Given the description of an element on the screen output the (x, y) to click on. 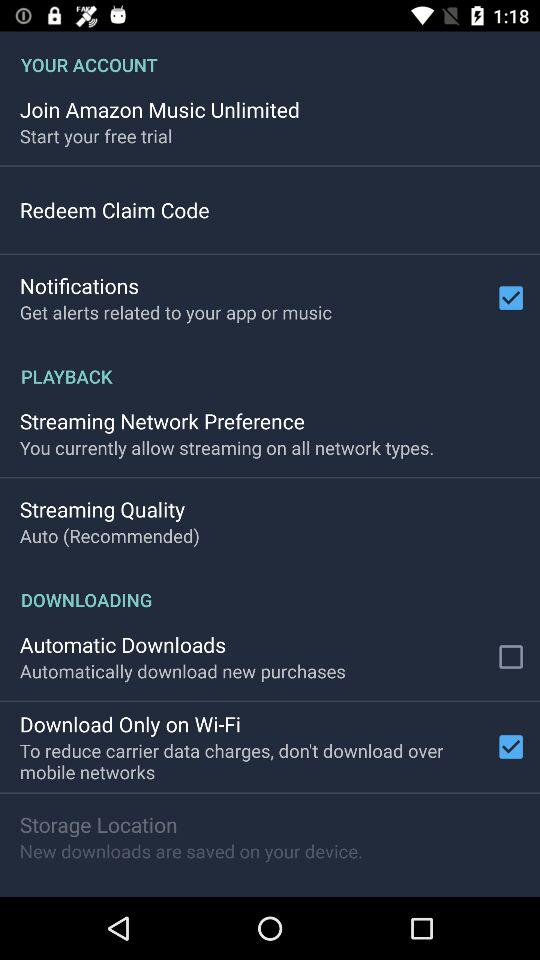
tap the icon above the new downloads are icon (98, 824)
